Given the description of an element on the screen output the (x, y) to click on. 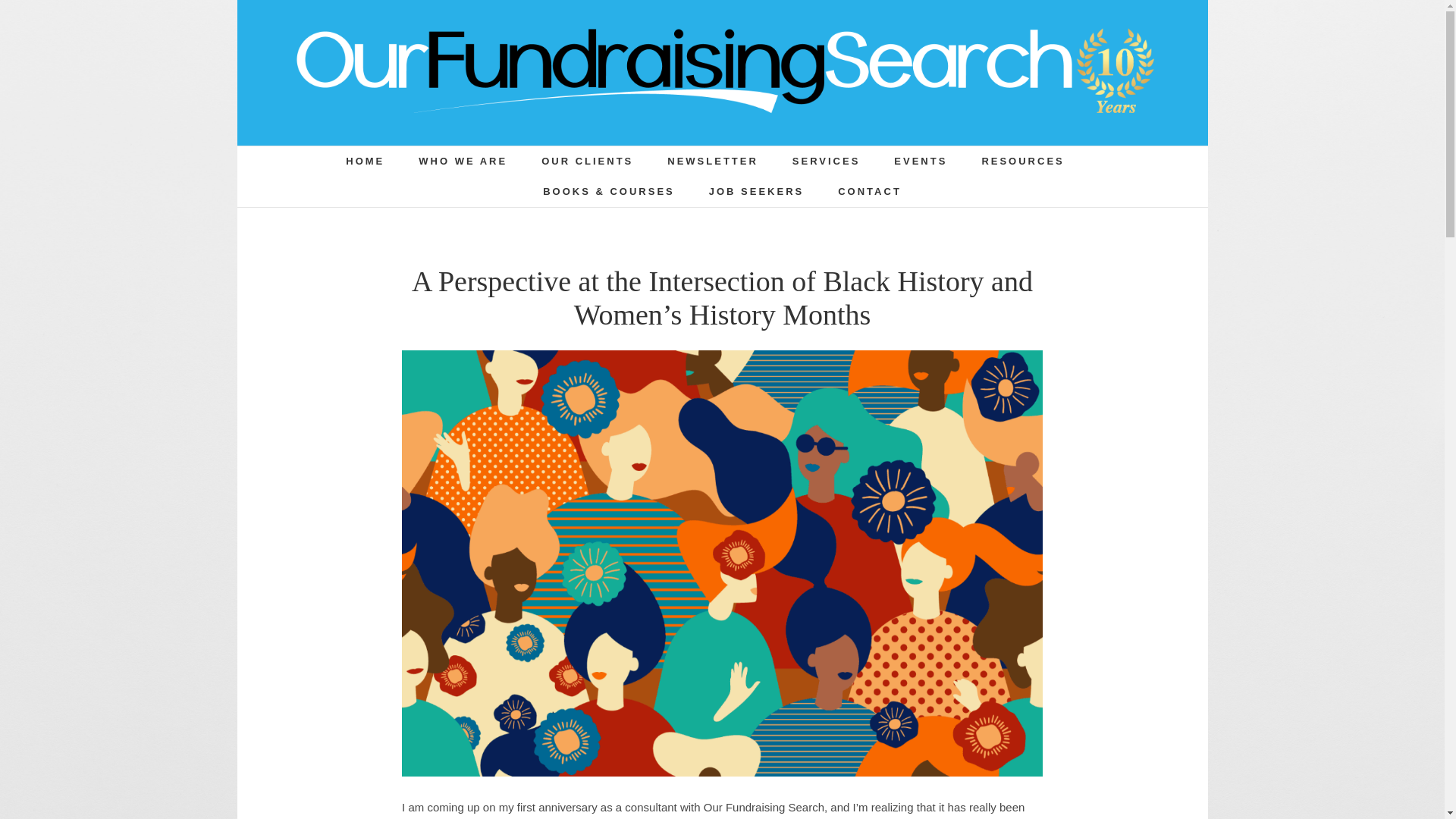
RESOURCES (1022, 161)
OUR CLIENTS (587, 161)
JOB SEEKERS (756, 191)
NEWSLETTER (712, 161)
EVENTS (920, 161)
HOME (365, 161)
CONTACT (869, 191)
WHO WE ARE (462, 161)
SERVICES (826, 161)
